Given the description of an element on the screen output the (x, y) to click on. 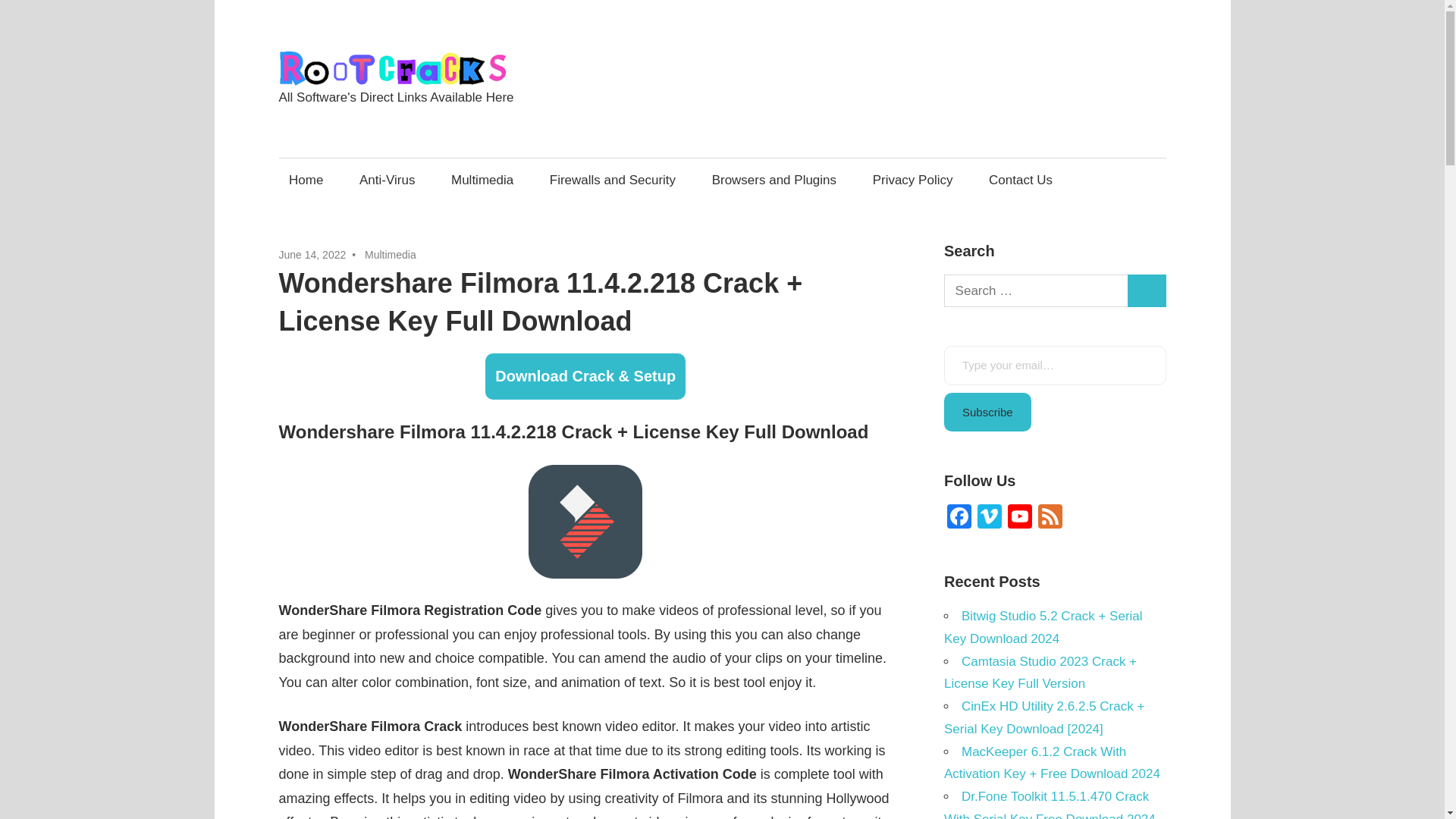
June 14, 2022 (312, 254)
Anti-Virus (387, 180)
Privacy Policy (911, 180)
Firewalls and Security (611, 180)
Search (1146, 290)
1:06 am (312, 254)
Multimedia (481, 180)
Contact Us (1020, 180)
Browsers and Plugins (774, 180)
Multimedia (390, 254)
